Given the description of an element on the screen output the (x, y) to click on. 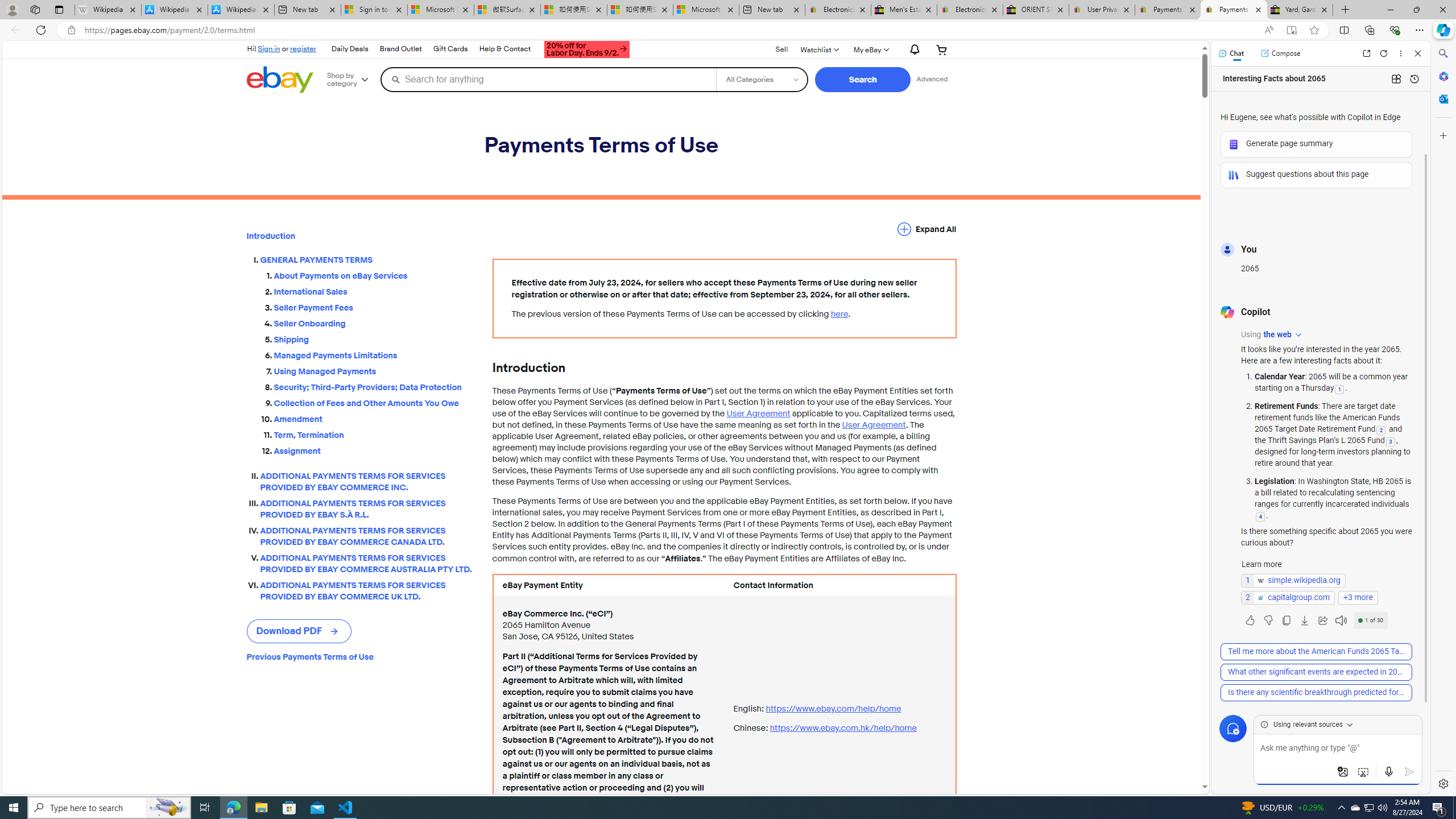
eBay Home (279, 79)
https://www.ebay.com.hk/ help/home (843, 727)
Seller Onboarding (373, 321)
Watchlist (818, 49)
Yard, Garden & Outdoor Living (1300, 9)
Select a category for search (762, 78)
Payments Terms of Use | eBay.com (1233, 9)
